Given the description of an element on the screen output the (x, y) to click on. 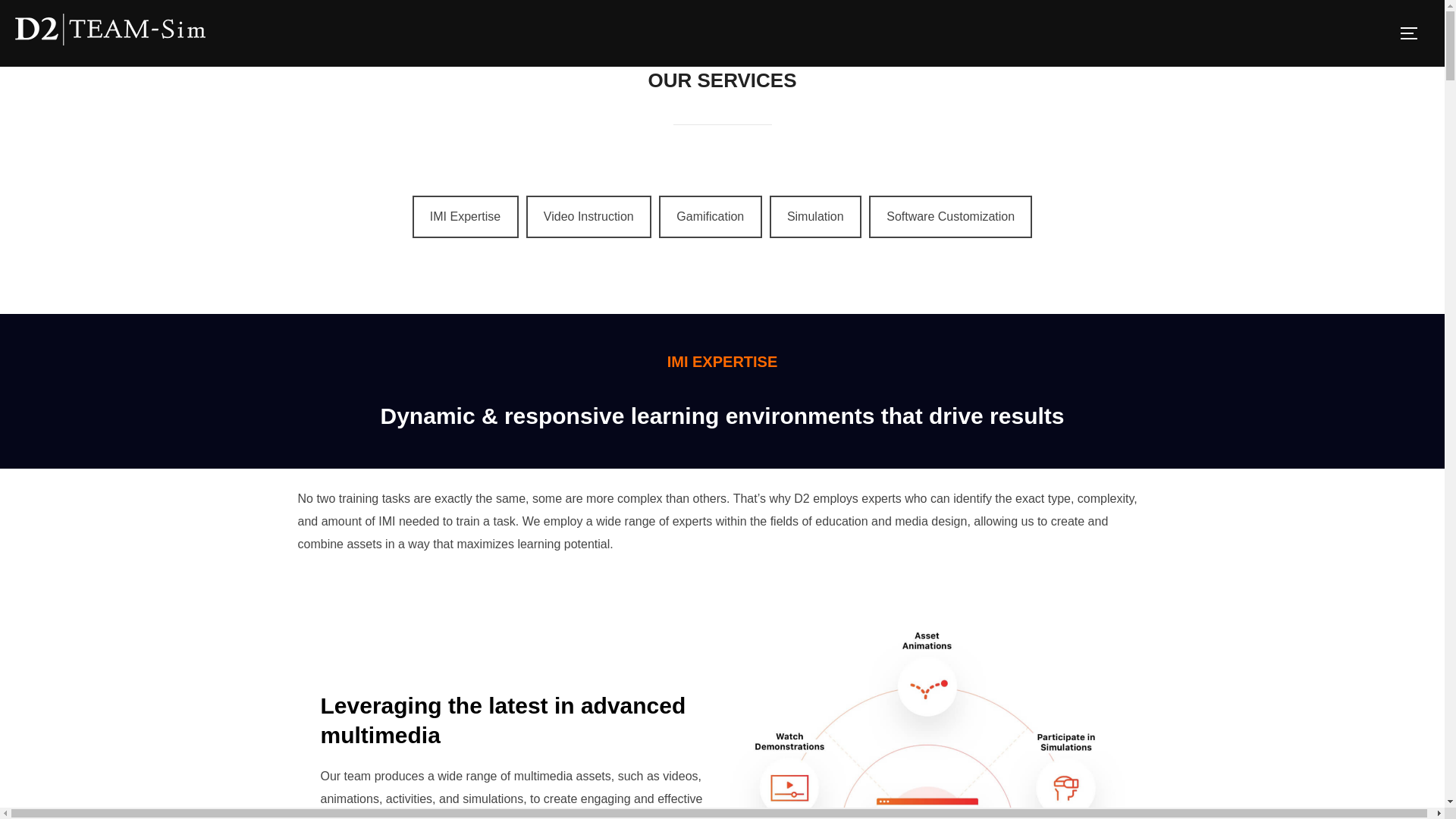
Gamification (710, 216)
Simulation (815, 216)
Video Instruction (588, 216)
IMI Expertise (465, 216)
Software Customization (950, 216)
